Given the description of an element on the screen output the (x, y) to click on. 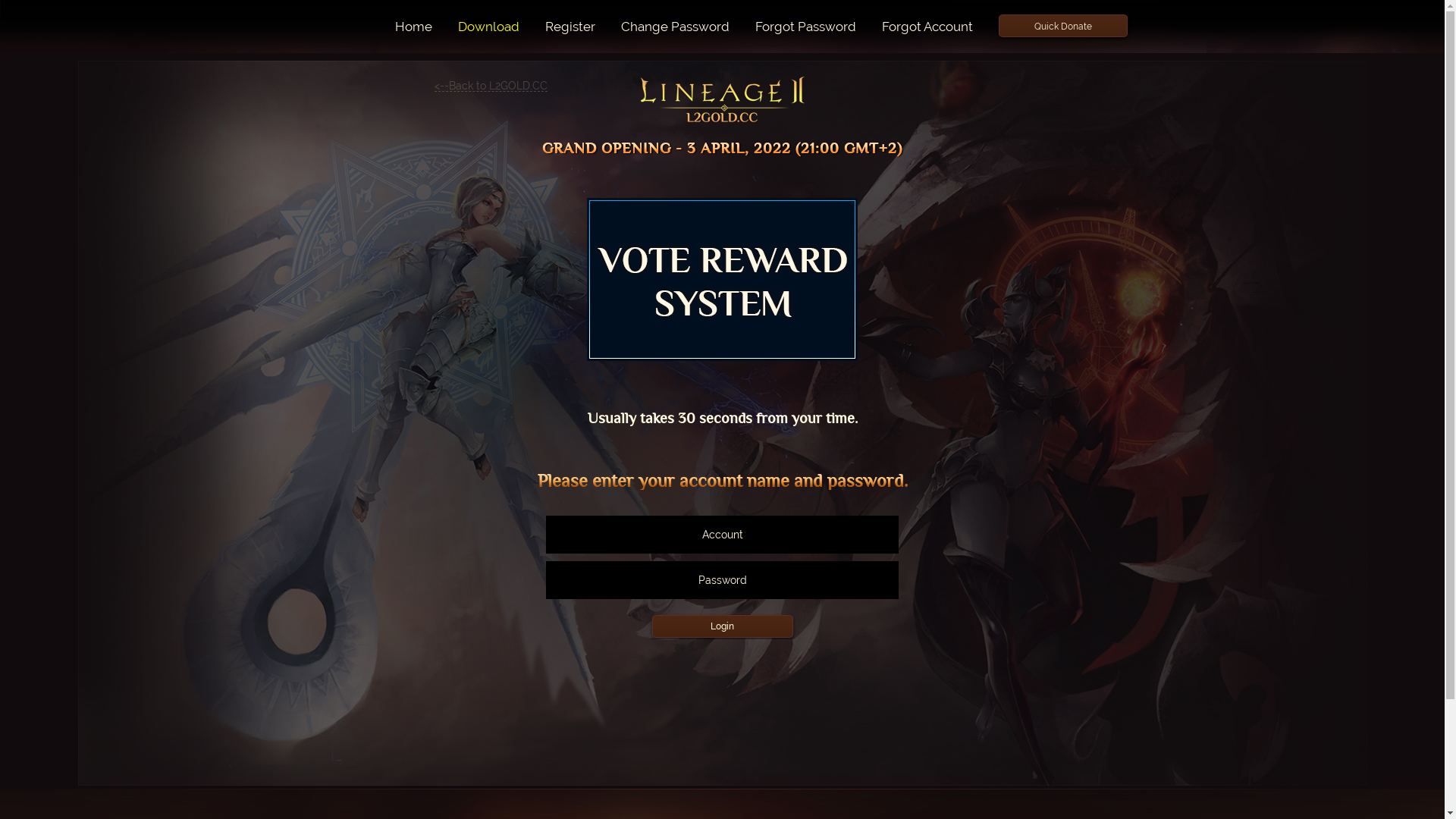
Forgot Password Element type: text (804, 26)
Quick Donate Element type: text (1062, 26)
Home Element type: text (413, 26)
Forgot Account Element type: text (927, 26)
<--Back to L2GOLD.CC Element type: text (489, 85)
Change Password Element type: text (674, 26)
Login Element type: text (722, 626)
Download Element type: text (487, 26)
Register Element type: text (569, 26)
